Given the description of an element on the screen output the (x, y) to click on. 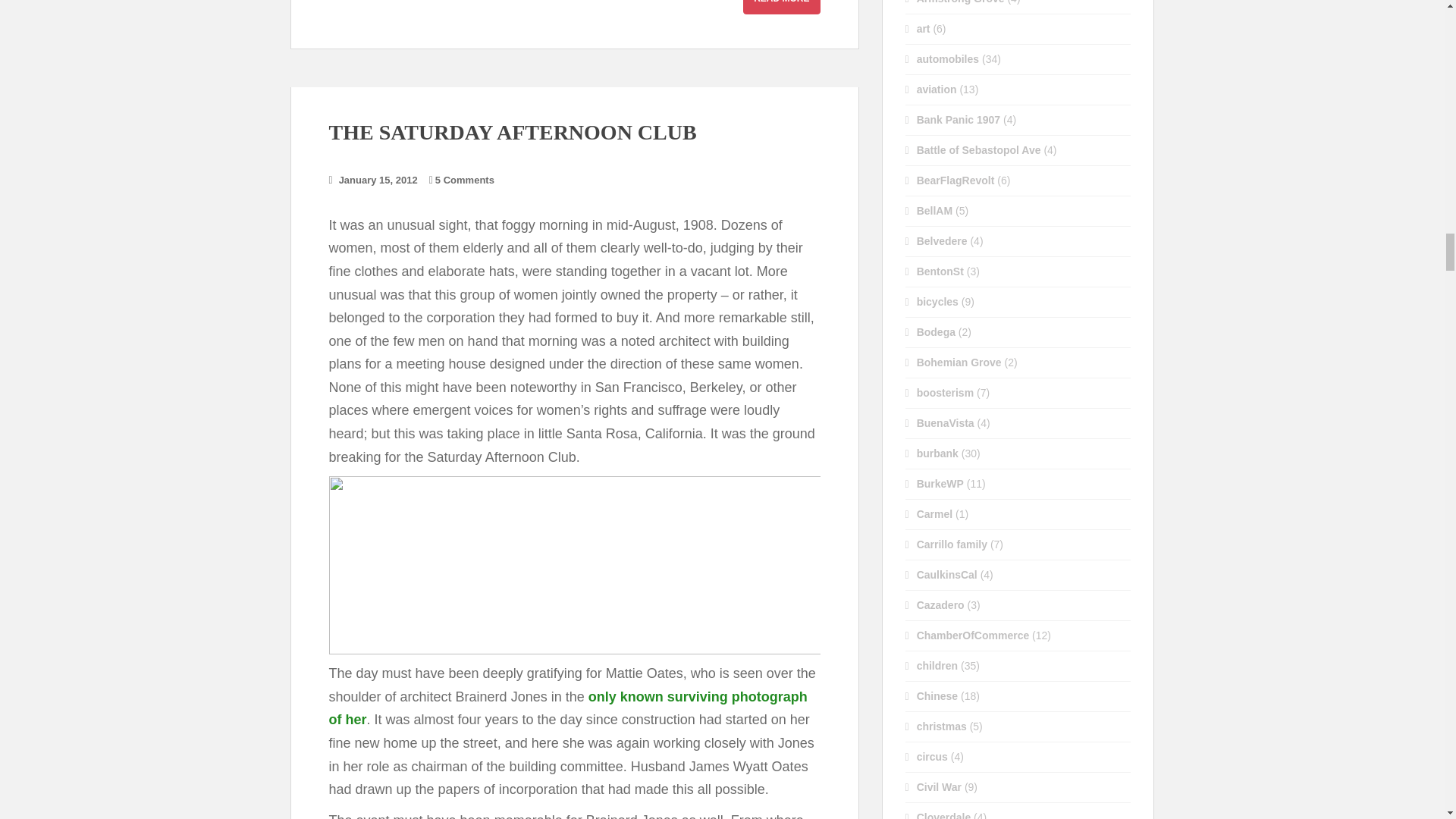
MORE EYEWITNESS ACCOUNTS OF THE 1906 EARTHQUAKE (780, 7)
THE SATURDAY AFTERNOON CLUB (513, 132)
January 15, 2012 (378, 179)
READ MORE (780, 7)
